Given the description of an element on the screen output the (x, y) to click on. 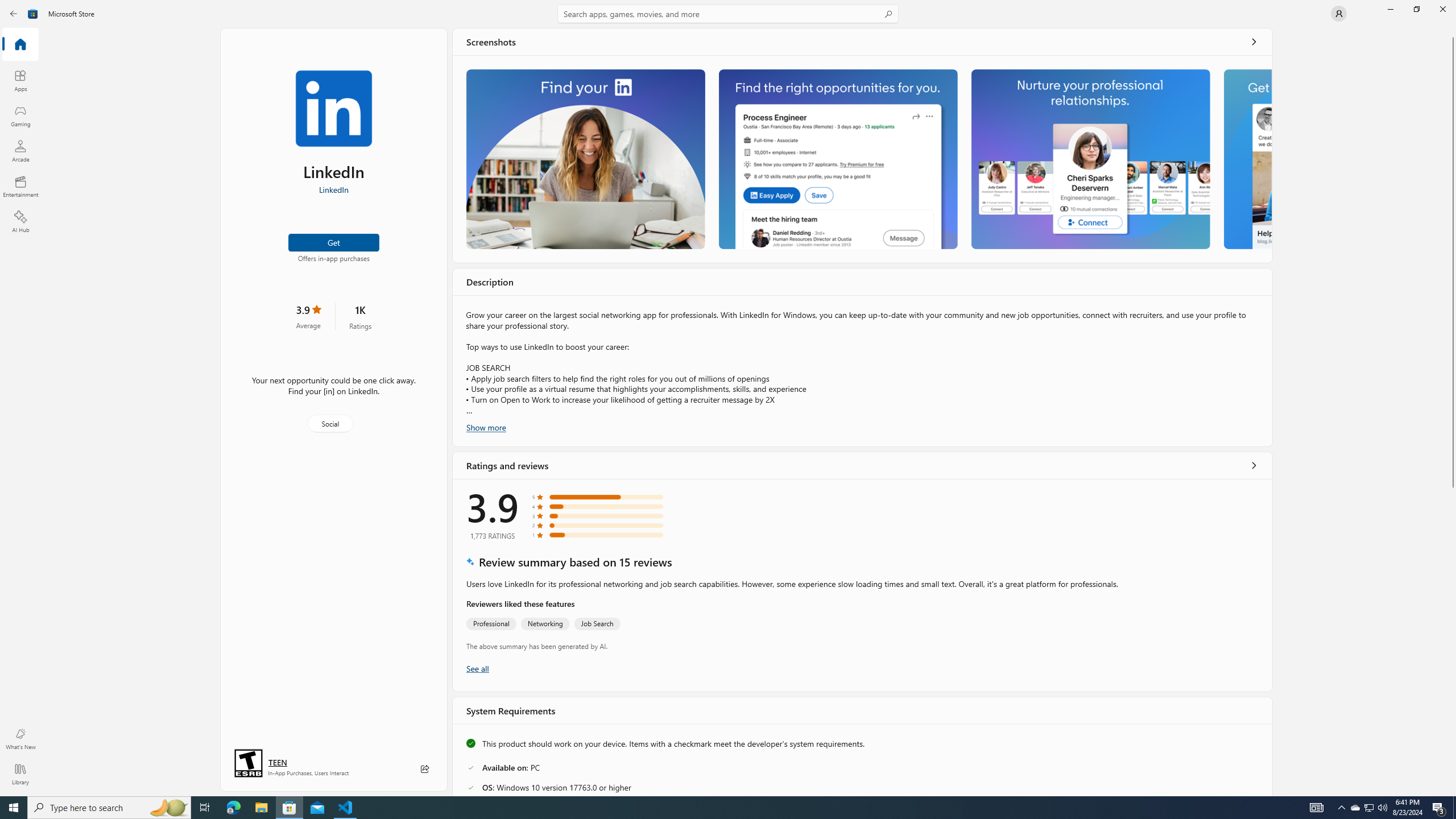
Restore Microsoft Store (1416, 9)
Vertical (1452, 412)
LinkedIn (332, 189)
Minimize Microsoft Store (1390, 9)
